Given the description of an element on the screen output the (x, y) to click on. 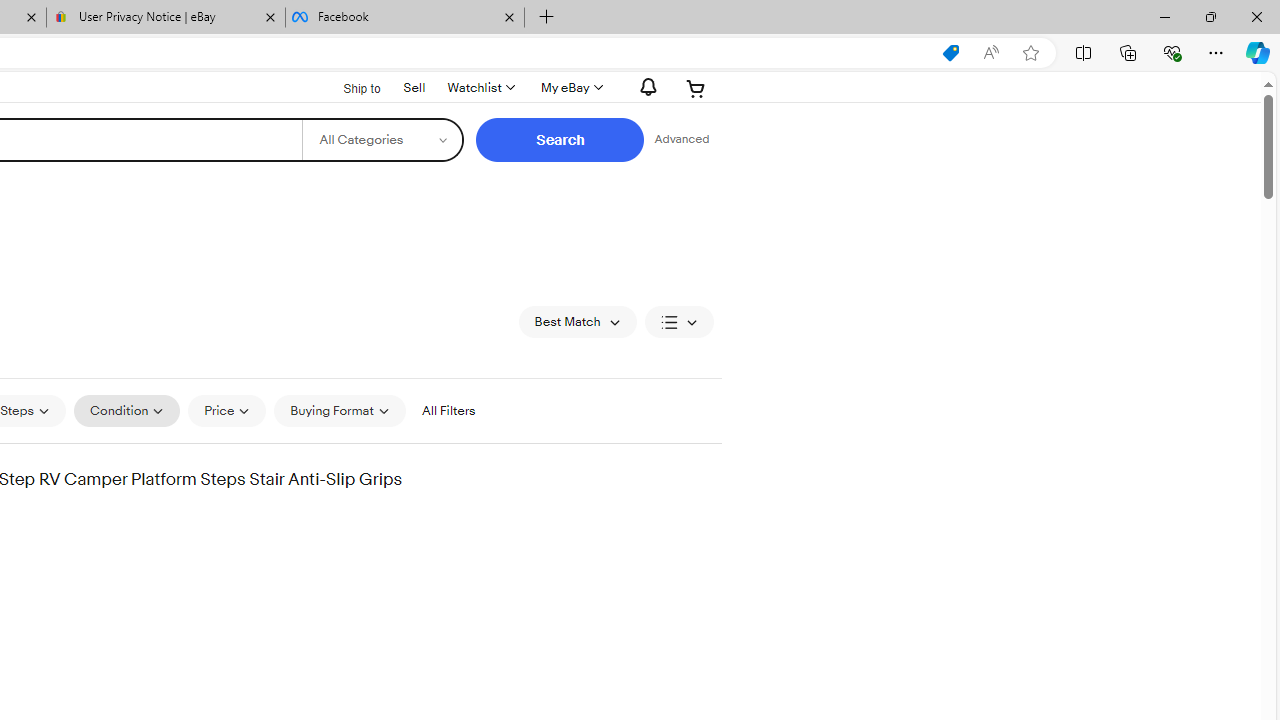
View: List View (678, 321)
Price (227, 410)
User Privacy Notice | eBay (166, 17)
Your shopping cart (696, 88)
Expand Cart (696, 88)
AutomationID: gh-eb-Alerts (645, 87)
